Given the description of an element on the screen output the (x, y) to click on. 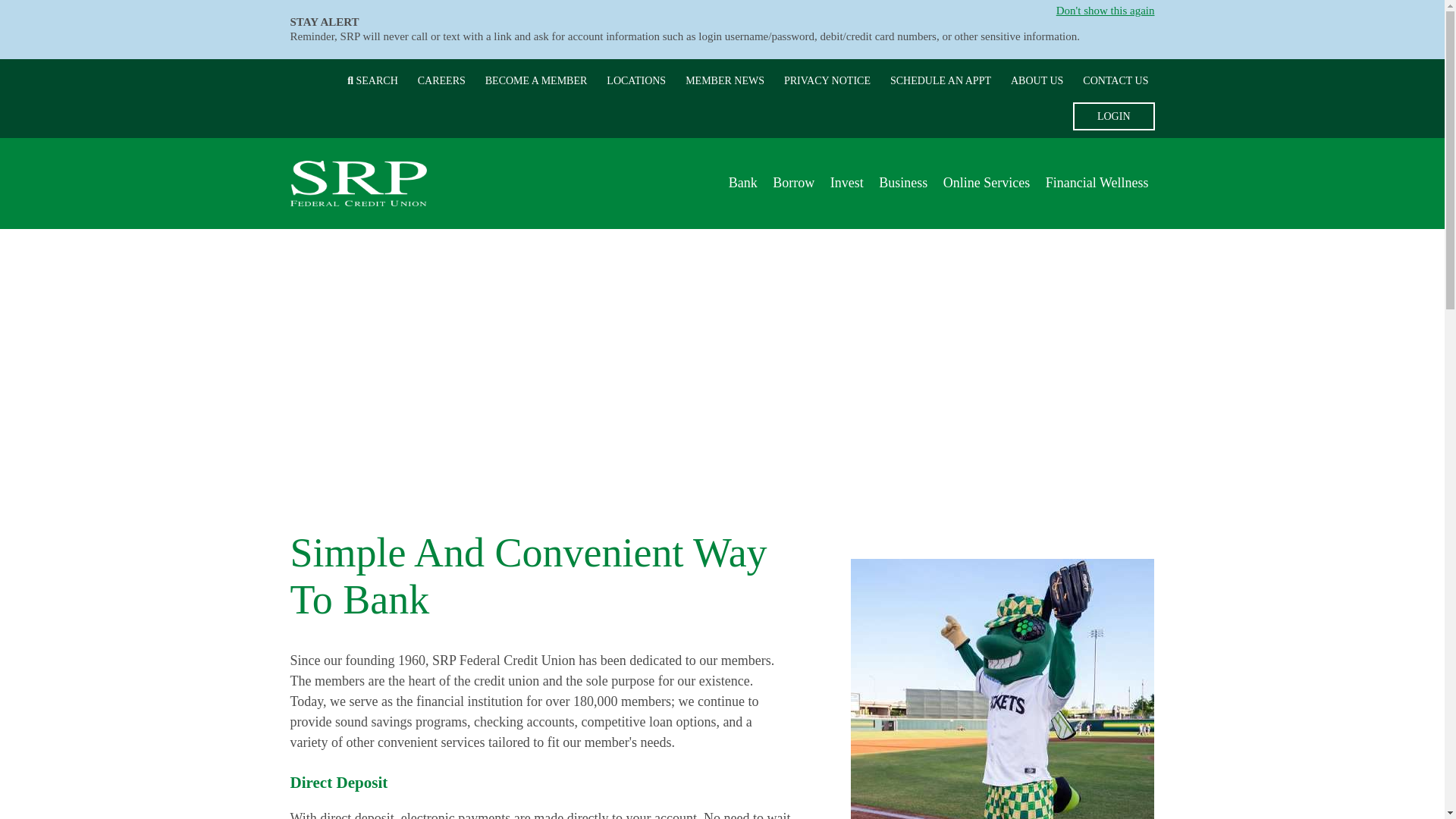
CAREERS (441, 80)
BECOME A MEMBER (536, 80)
Bank (742, 182)
Auggie (1002, 688)
SEARCH (372, 80)
Don't show this again (1105, 11)
MEMBER NEWS (724, 80)
SCHEDULE AN APPT (940, 80)
LOGIN (1113, 115)
PRIVACY NOTICE (826, 80)
